Given the description of an element on the screen output the (x, y) to click on. 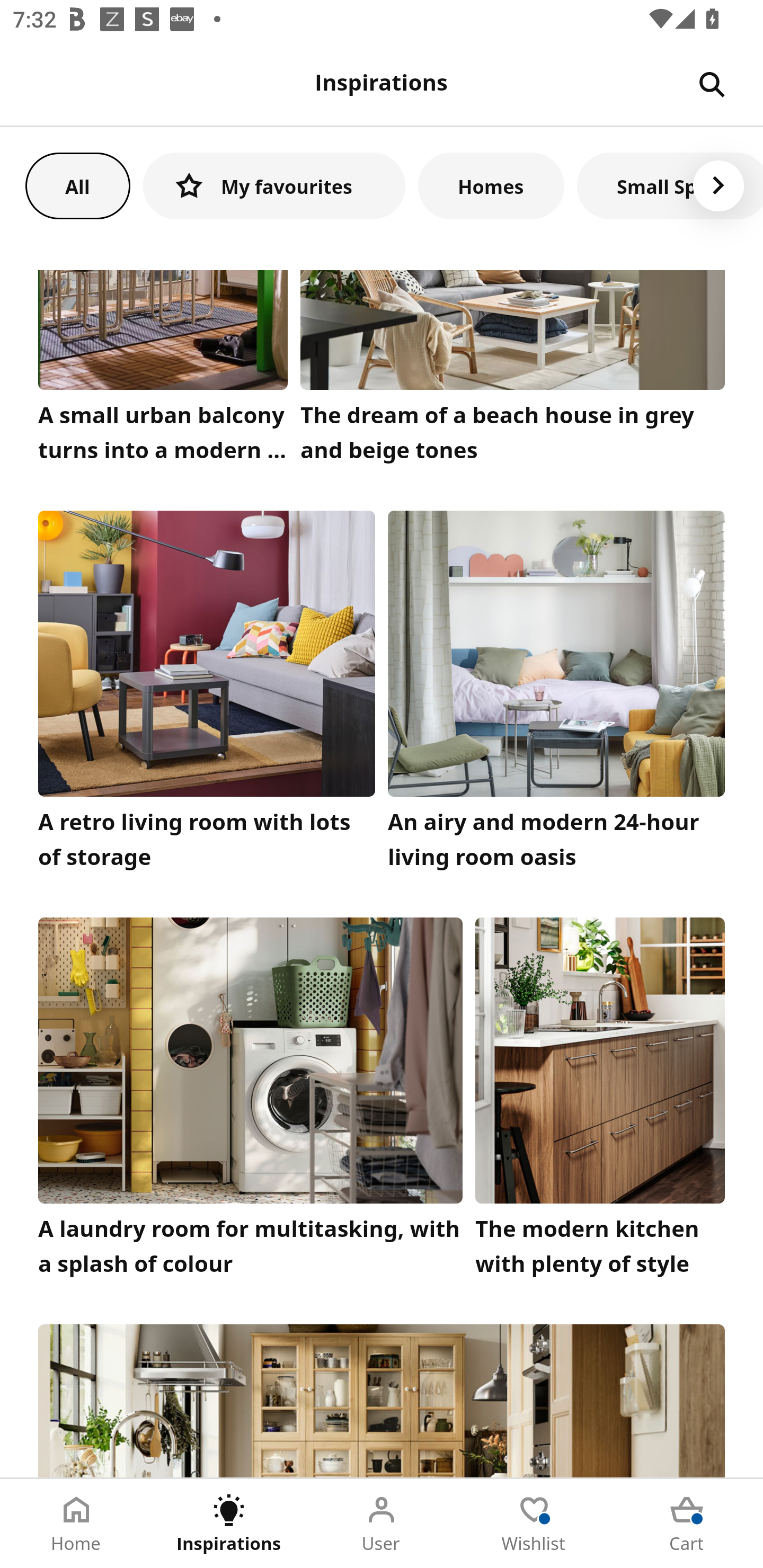
All (77, 185)
My favourites (274, 185)
Homes (491, 185)
The dream of a beach house in grey and beige tones (512, 370)
A retro living room with lots of storage (206, 695)
An airy and modern 24-hour living room oasis (555, 695)
The modern kitchen with plenty of style (599, 1101)
Home
Tab 1 of 5 (76, 1522)
Inspirations
Tab 2 of 5 (228, 1522)
User
Tab 3 of 5 (381, 1522)
Wishlist
Tab 4 of 5 (533, 1522)
Cart
Tab 5 of 5 (686, 1522)
